Given the description of an element on the screen output the (x, y) to click on. 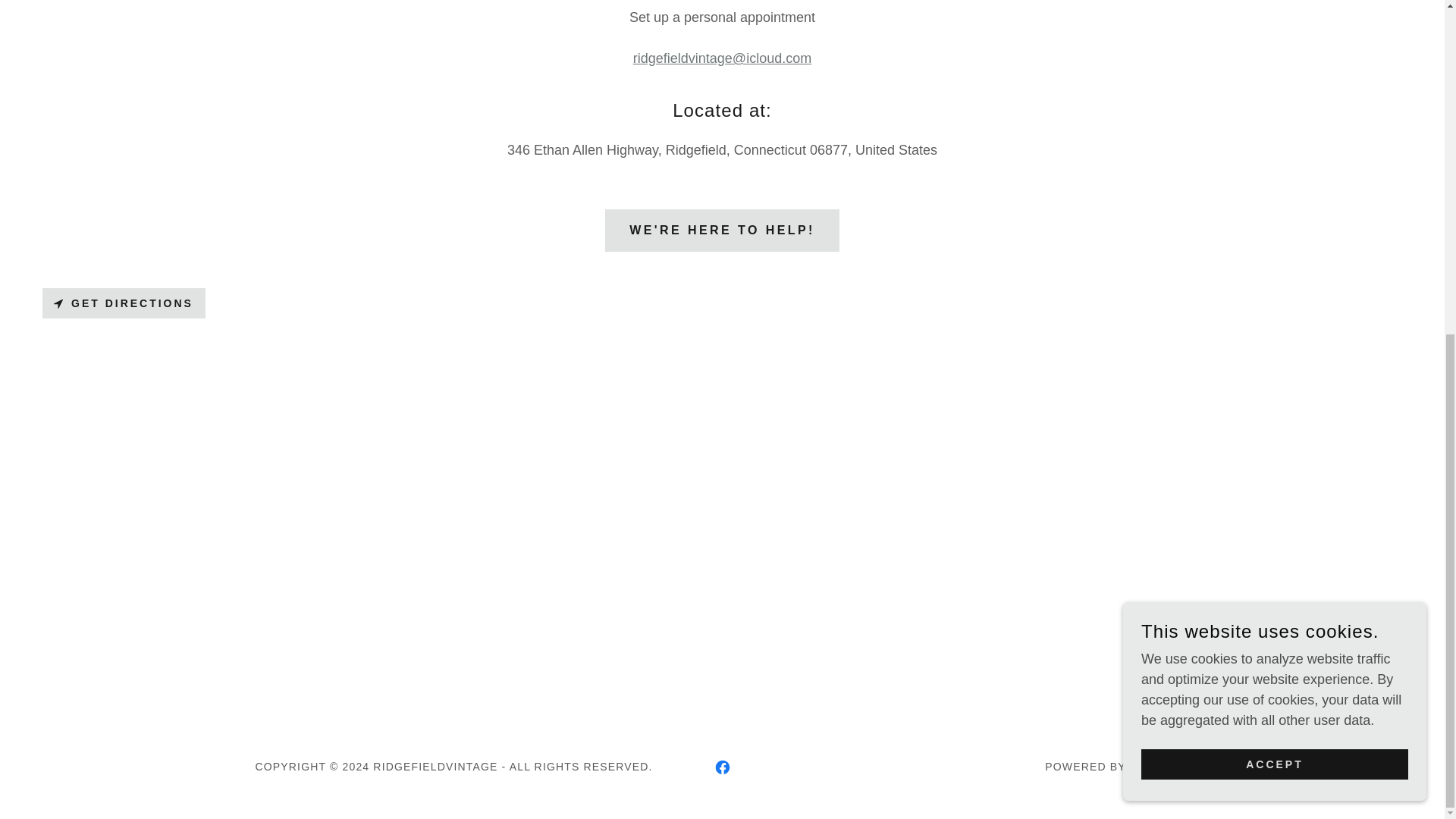
GET DIRECTIONS (123, 303)
GODADDY (1159, 766)
WE'RE HERE TO HELP! (722, 230)
ACCEPT (1274, 205)
